Given the description of an element on the screen output the (x, y) to click on. 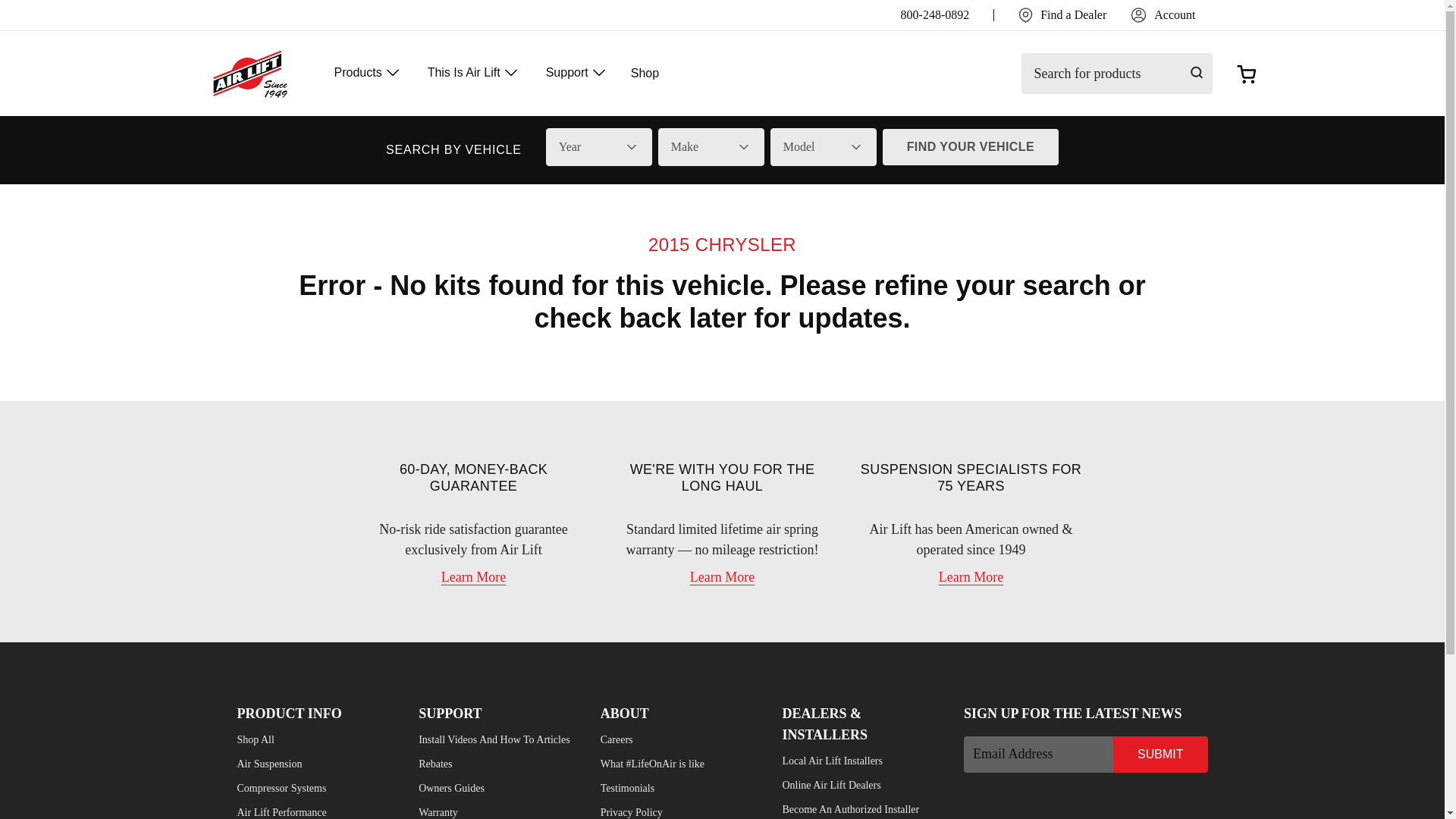
Find a Dealer (1061, 14)
This Is Air Lift (474, 73)
Account (1163, 14)
800-248-0892 (935, 14)
Products (368, 73)
